Given the description of an element on the screen output the (x, y) to click on. 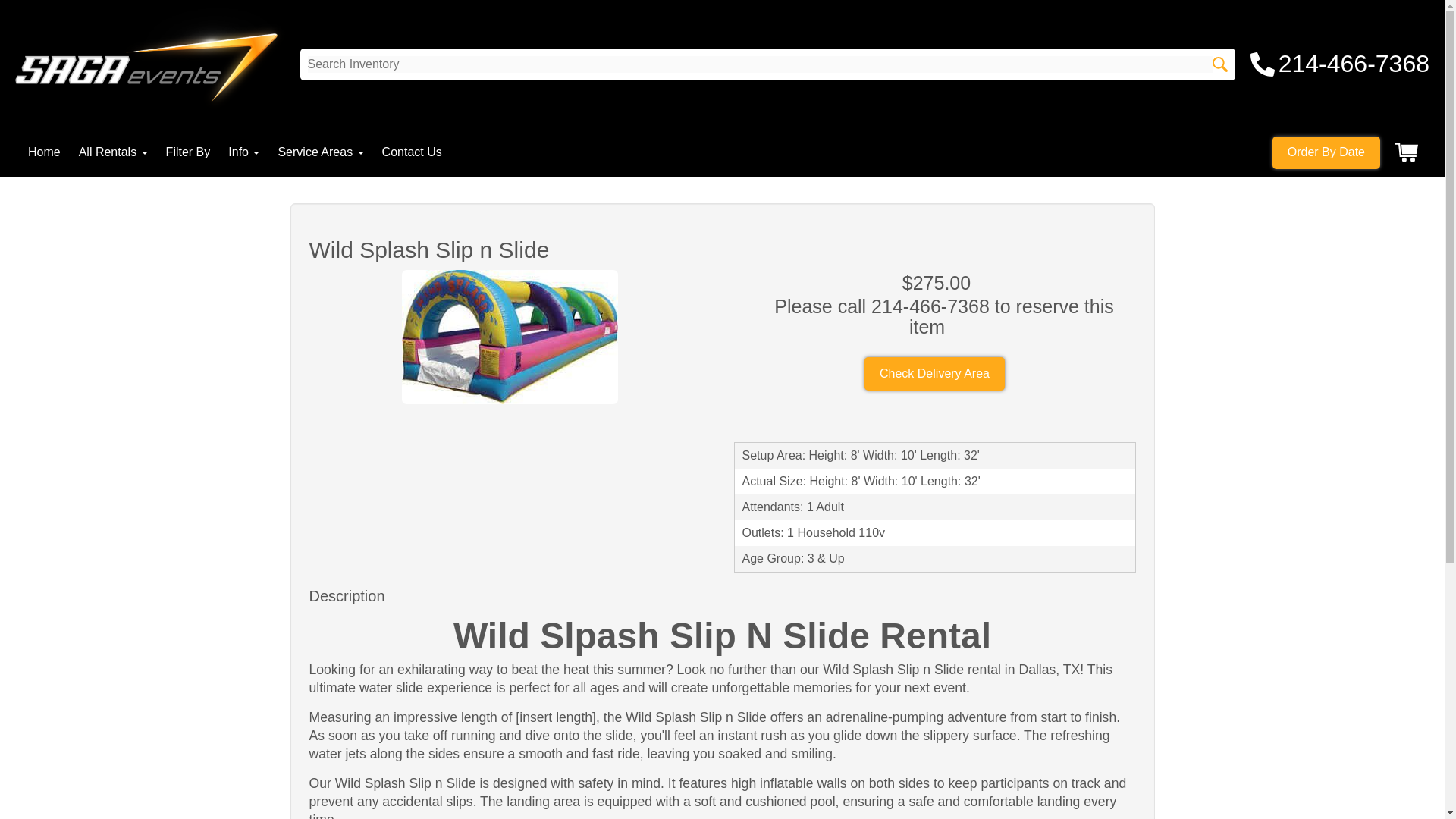
Filter By (188, 151)
Info (243, 151)
Saga Events LLC (149, 64)
Contact Us (411, 151)
Home (44, 151)
Order By Date (1326, 152)
214-466-7368 (1339, 63)
Service Areas (320, 151)
All Rentals (113, 151)
Check Delivery Area (934, 373)
Wild Splash Slip n Slide (509, 337)
